Given the description of an element on the screen output the (x, y) to click on. 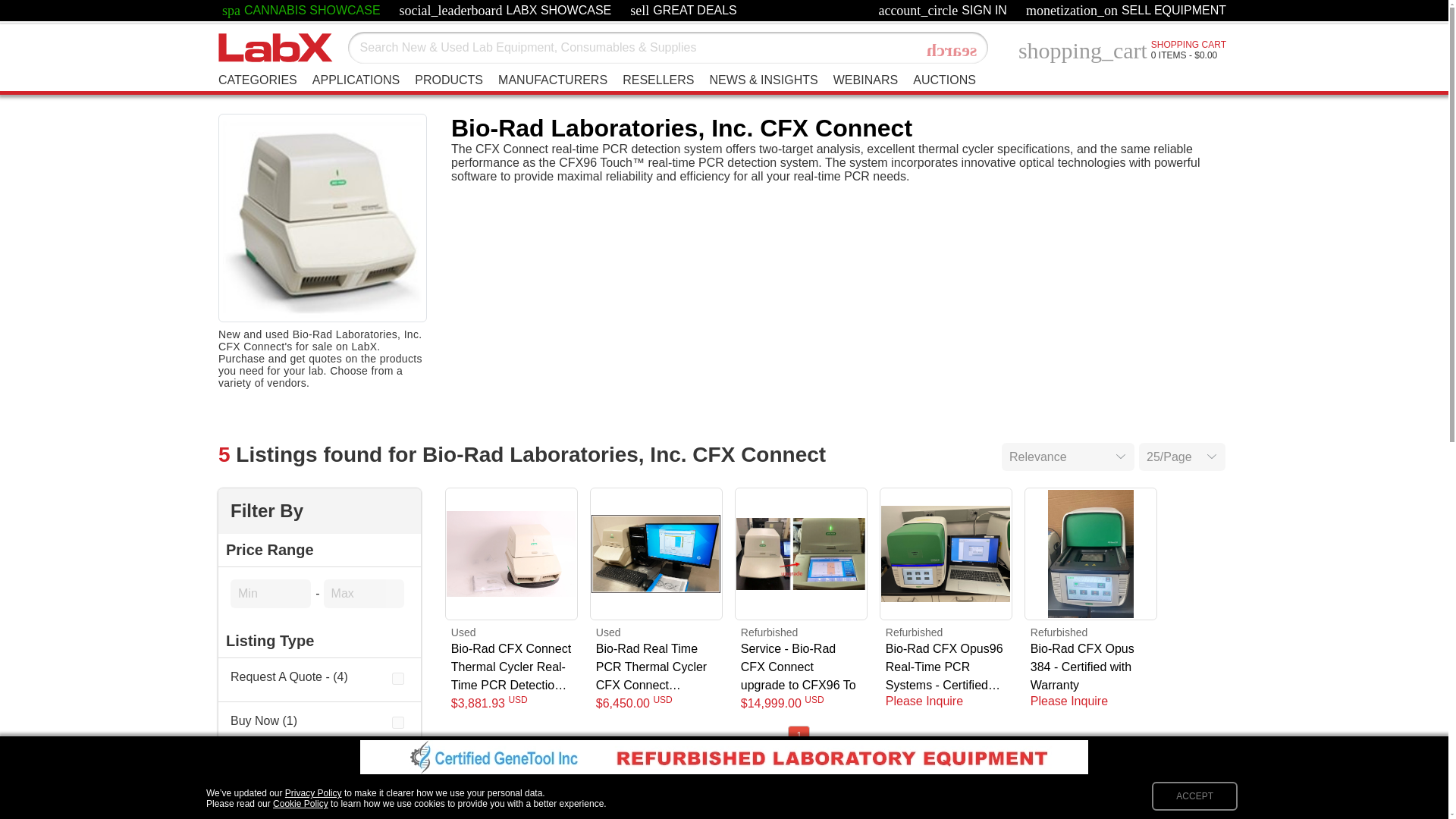
CATEGORIES (257, 80)
PRODUCTS (448, 80)
1 (397, 722)
RESELLERS (658, 80)
WEBINARS (865, 80)
search (301, 10)
MANUFACTURERS (951, 50)
APPLICATIONS (683, 10)
0 (552, 80)
AUCTIONS (355, 80)
